Given the description of an element on the screen output the (x, y) to click on. 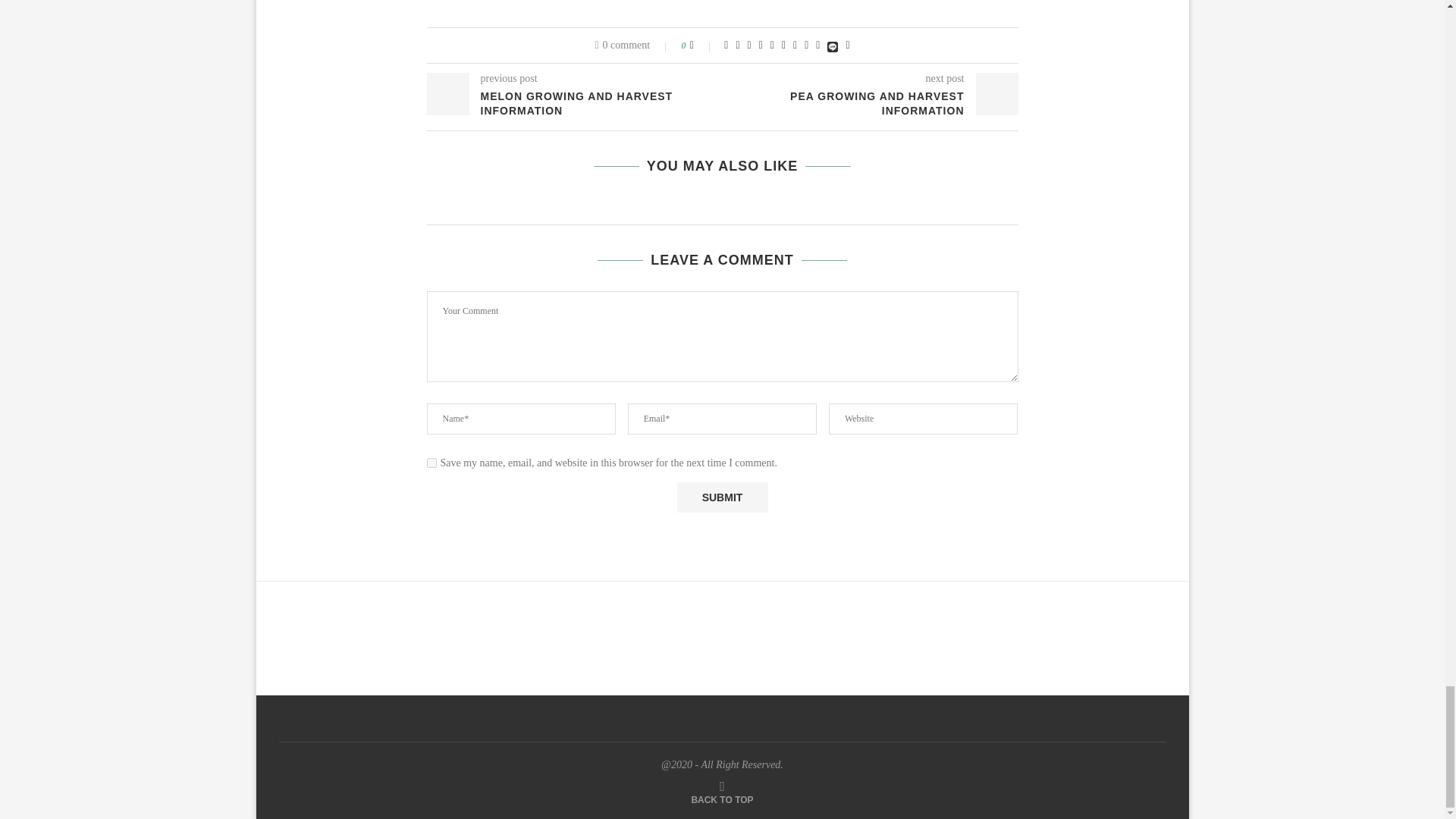
yes (430, 462)
Submit (722, 497)
